Given the description of an element on the screen output the (x, y) to click on. 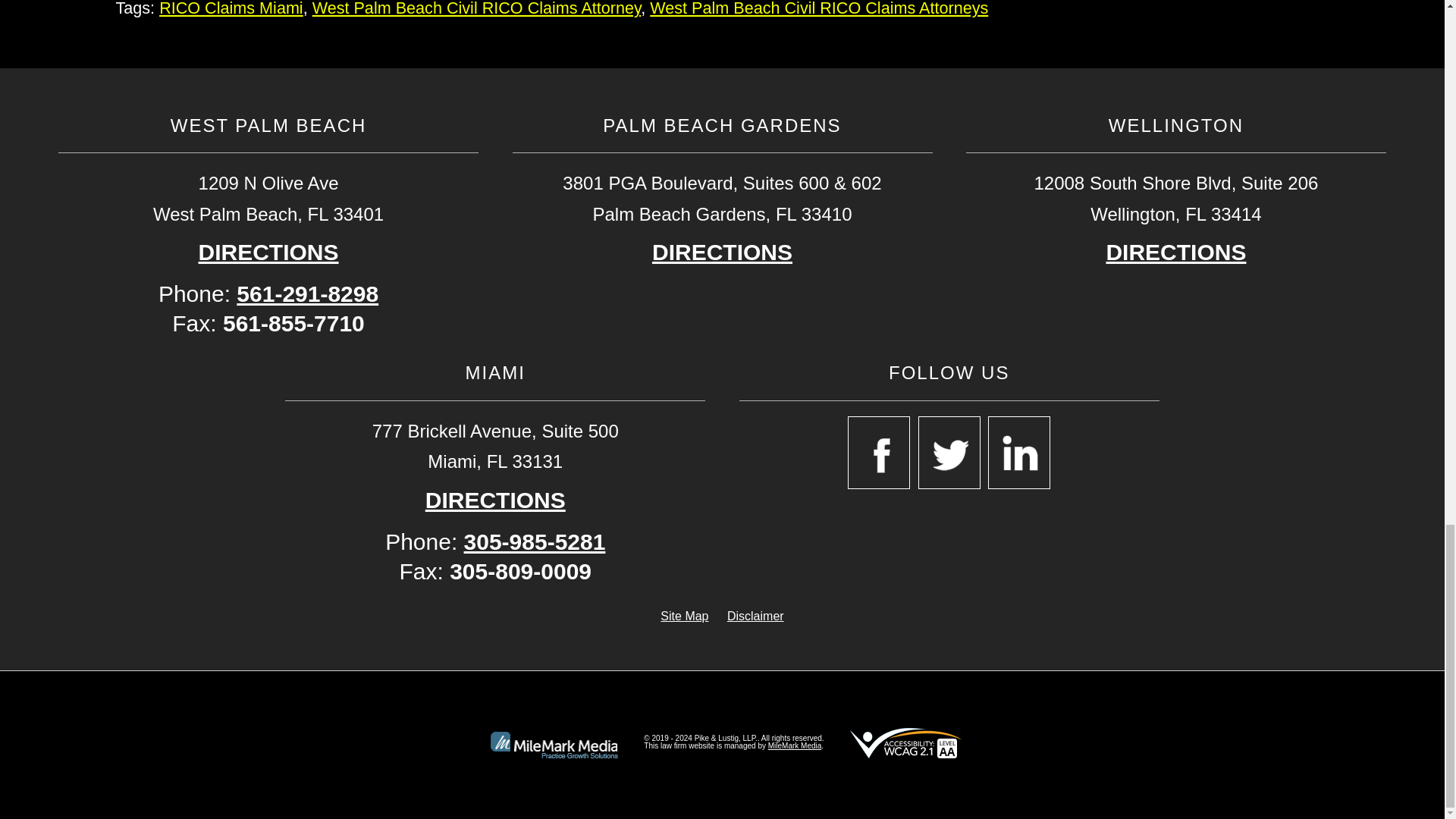
Open Google Map In New Window (722, 251)
Open Google Map In New Window (268, 251)
Open Google Map In New Window (495, 500)
Open Google Map In New Window (1175, 251)
